Given the description of an element on the screen output the (x, y) to click on. 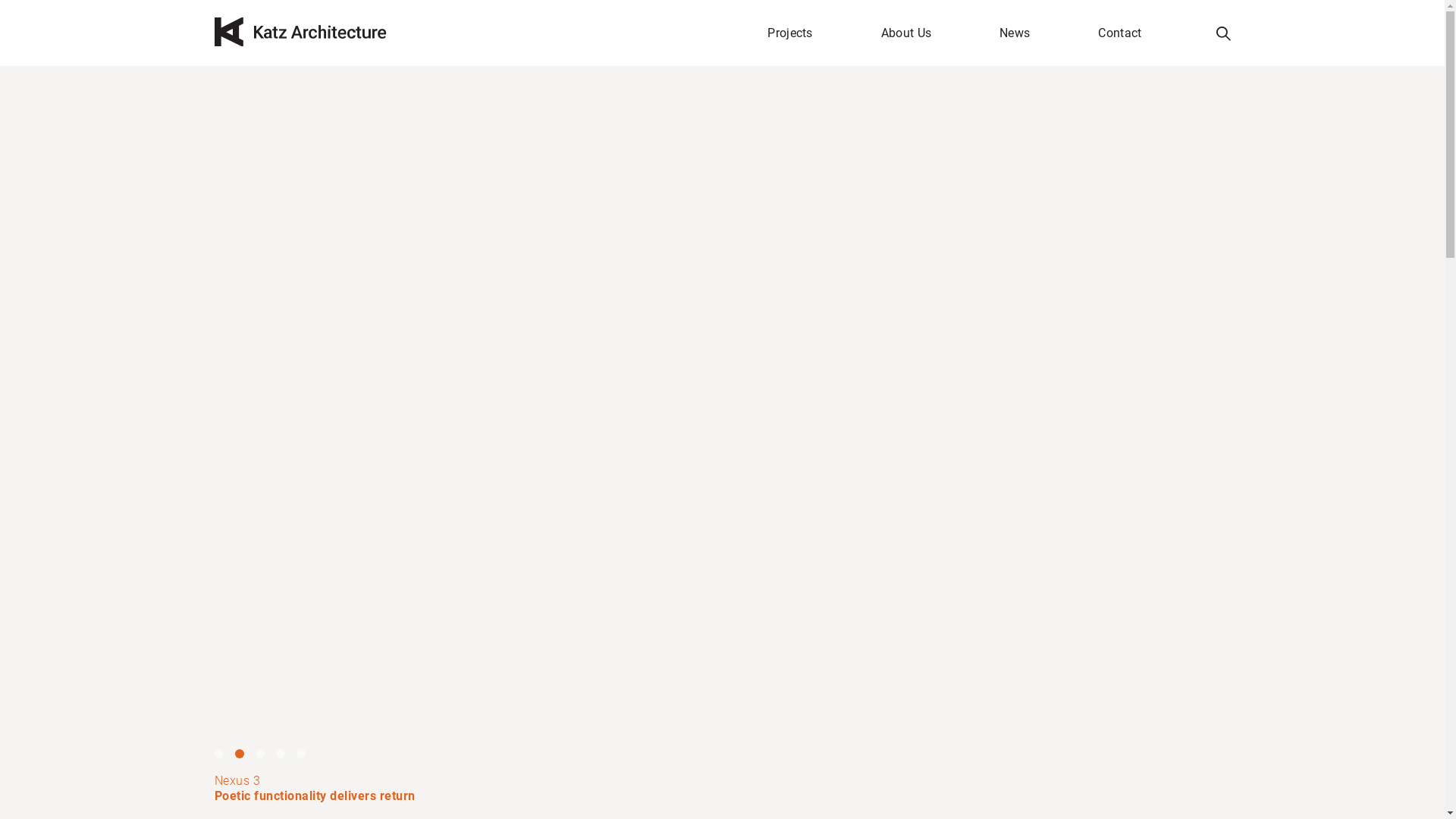
Projects Element type: text (789, 32)
News Element type: text (1014, 32)
About Us Element type: text (906, 32)
Contact Element type: text (1119, 32)
Katz Element type: hover (299, 34)
Nexus 3
Poetic functionality delivers return Element type: text (721, 788)
